Given the description of an element on the screen output the (x, y) to click on. 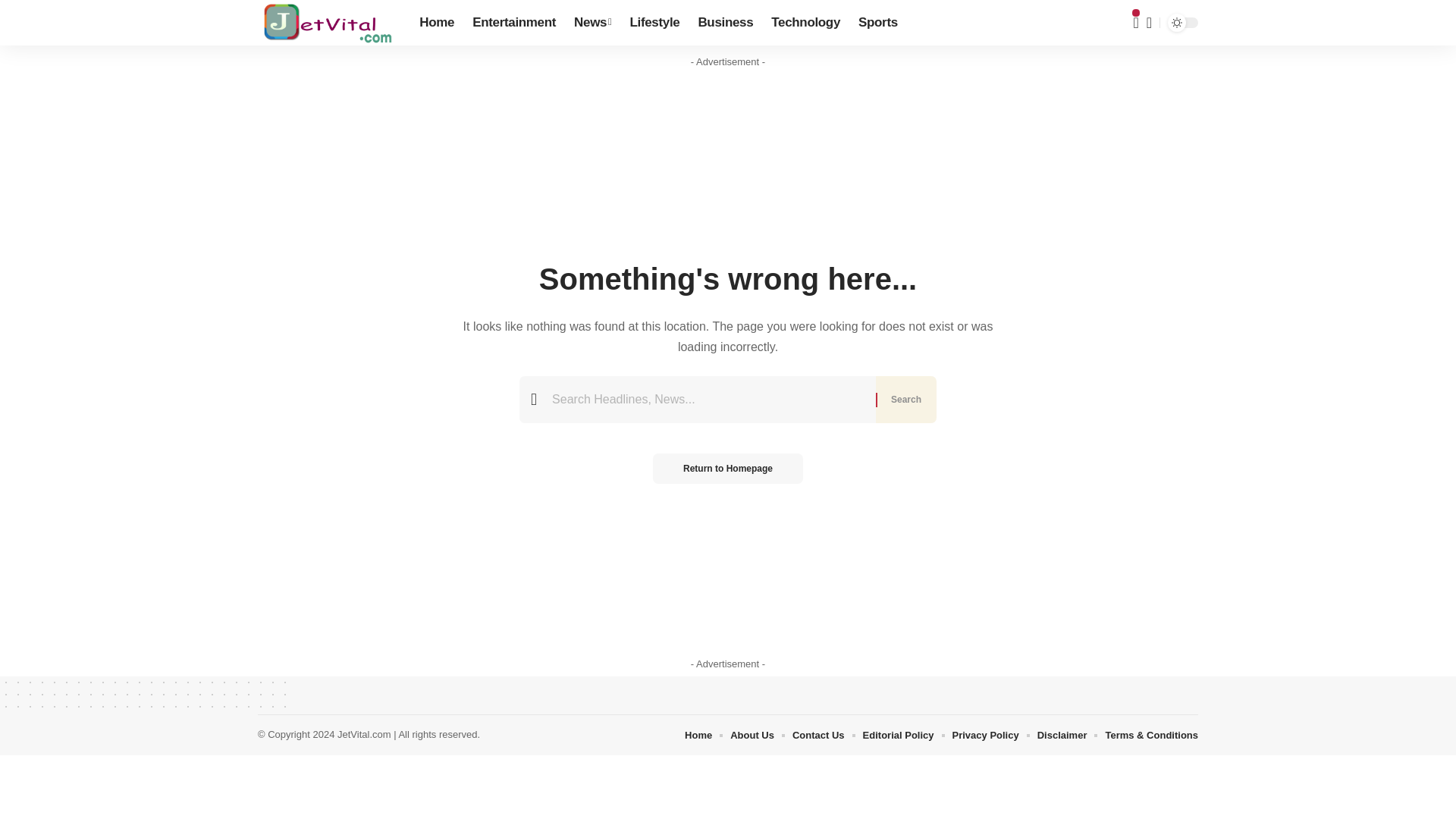
Lifestyle (654, 22)
Home (436, 22)
Technology (804, 22)
Search (906, 399)
Search (906, 399)
News (592, 22)
Sports (877, 22)
Business (724, 22)
Jet Vital (325, 22)
Entertainment (513, 22)
